Given the description of an element on the screen output the (x, y) to click on. 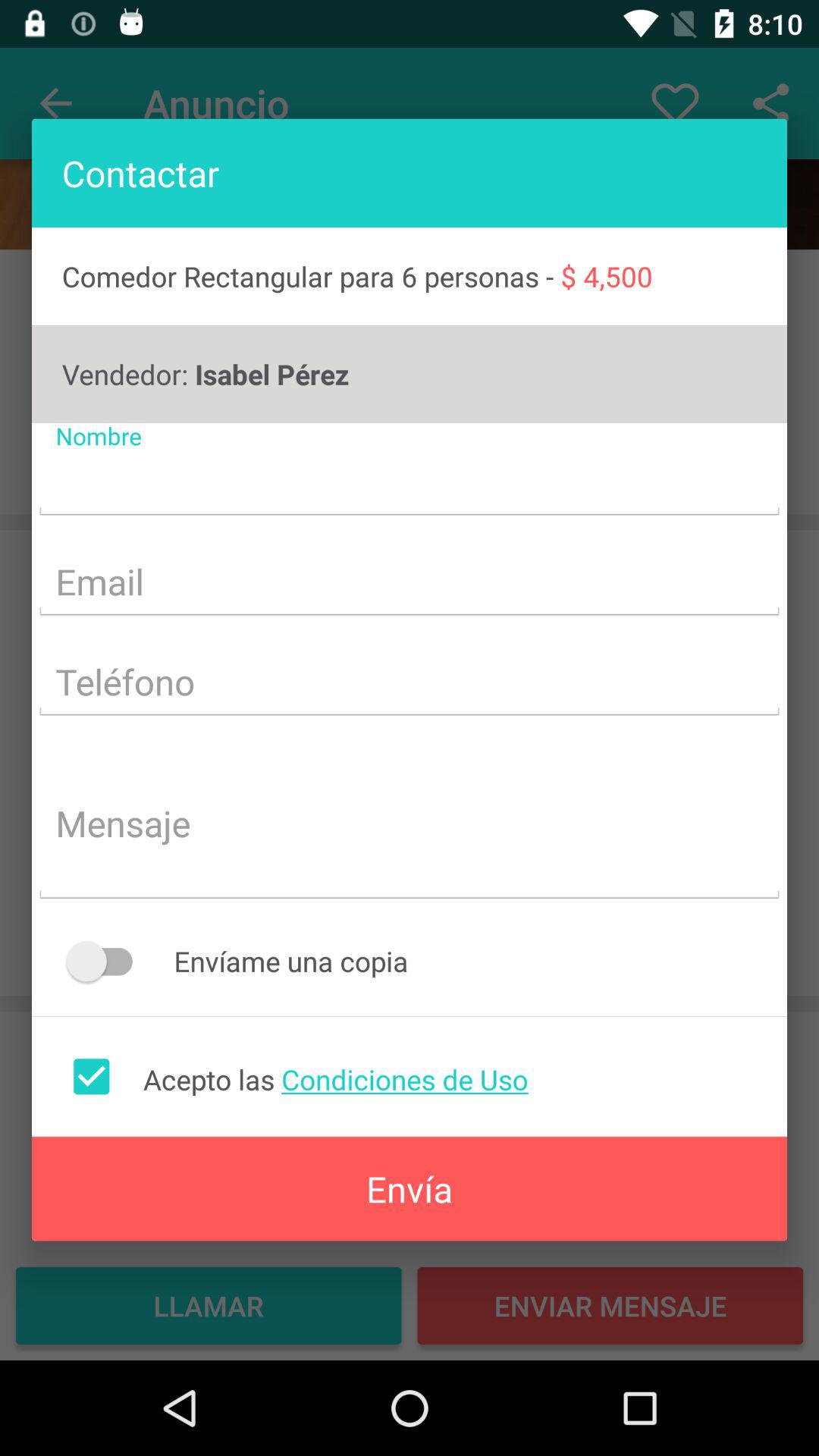
accept terms (91, 1076)
